Given the description of an element on the screen output the (x, y) to click on. 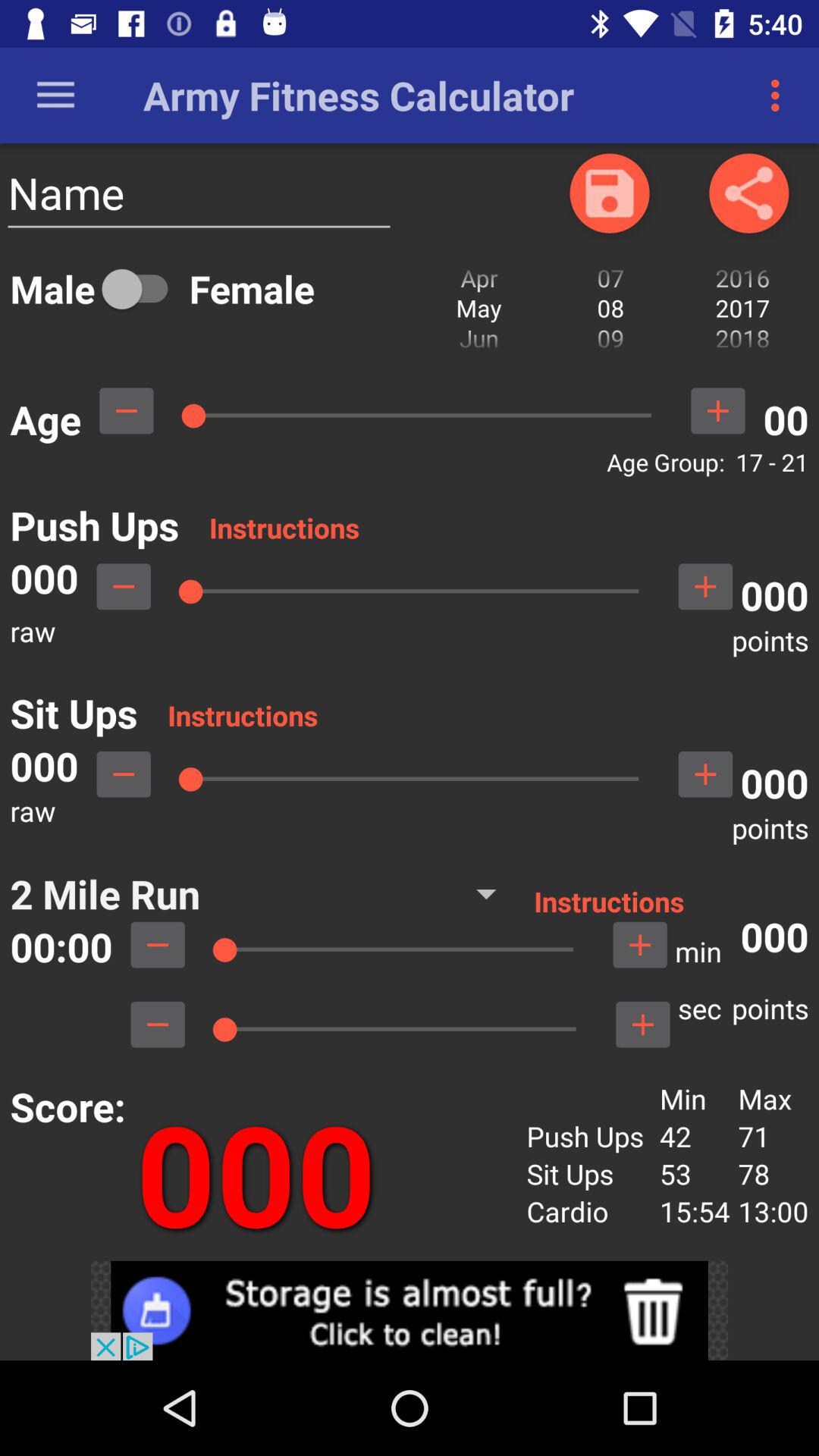
open advertisement (409, 1310)
